Given the description of an element on the screen output the (x, y) to click on. 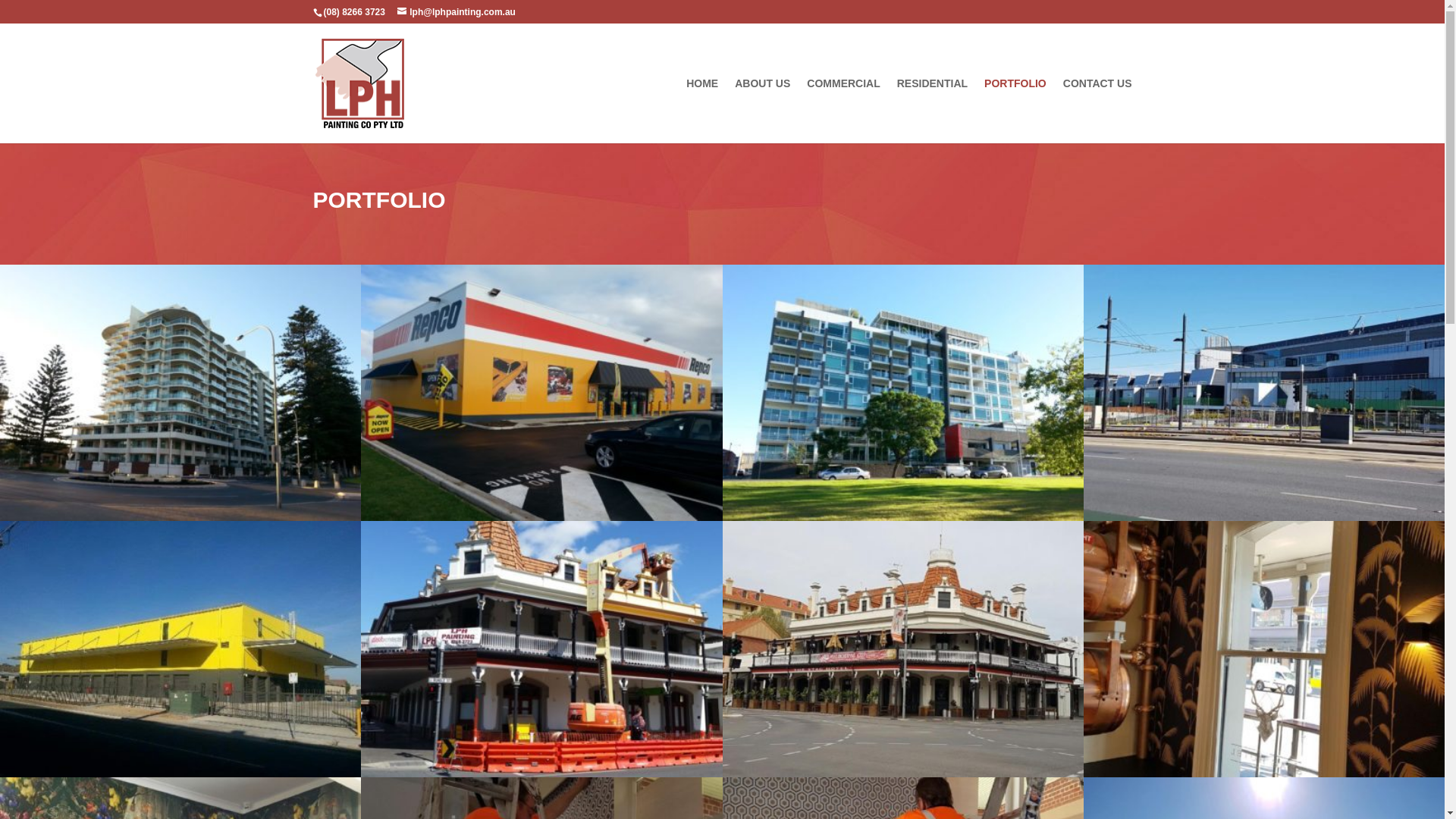
Stag Hotel Completed Element type: hover (901, 773)
PORTFOLIO Element type: text (1015, 110)
CONTACT US Element type: text (1097, 110)
(08) 8266 3723 Element type: text (353, 11)
ABOUT US Element type: text (762, 110)
Repco Element type: hover (540, 517)
U_Store_It_Keswick_Painting_by_LPH_Painters Element type: hover (180, 773)
HOME Element type: text (702, 110)
Stag Hotel Int 3 Element type: hover (1263, 773)
RESIDENTIAL Element type: text (932, 110)
Stage_Before_Completition Element type: hover (540, 773)
POB Element type: hover (901, 517)
COMMERCIAL Element type: text (842, 110)
Liberty Towers Element type: hover (180, 517)
lph@lphpainting.com.au Element type: text (456, 11)
unnamed Element type: hover (1263, 517)
